Given the description of an element on the screen output the (x, y) to click on. 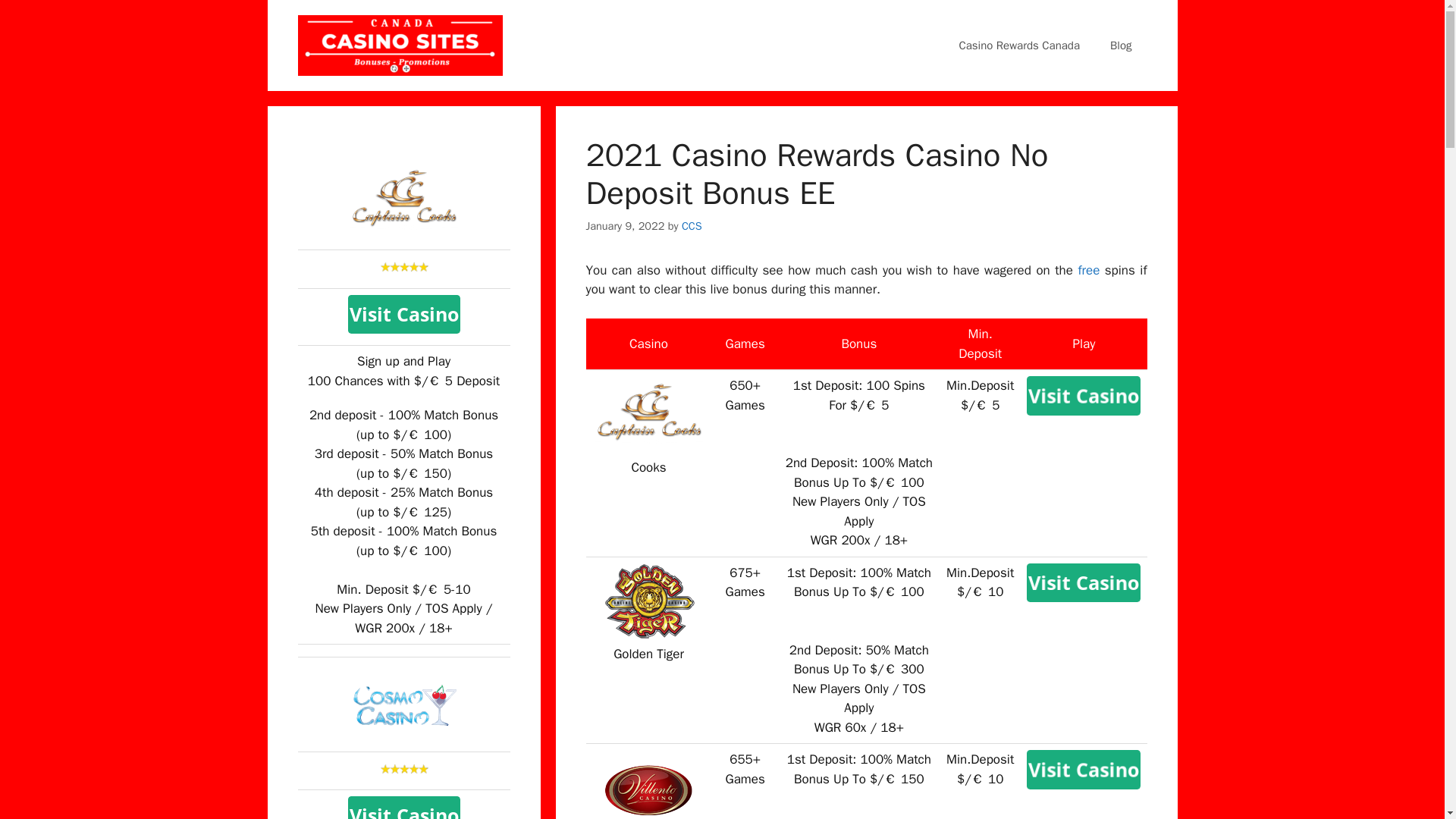
free (1088, 270)
View all posts by CCS (691, 225)
Casino Rewards Canada (1018, 44)
Casino Canada Sites (399, 45)
CCS (691, 225)
Blog (1120, 44)
Casino Canada Sites (399, 44)
